Given the description of an element on the screen output the (x, y) to click on. 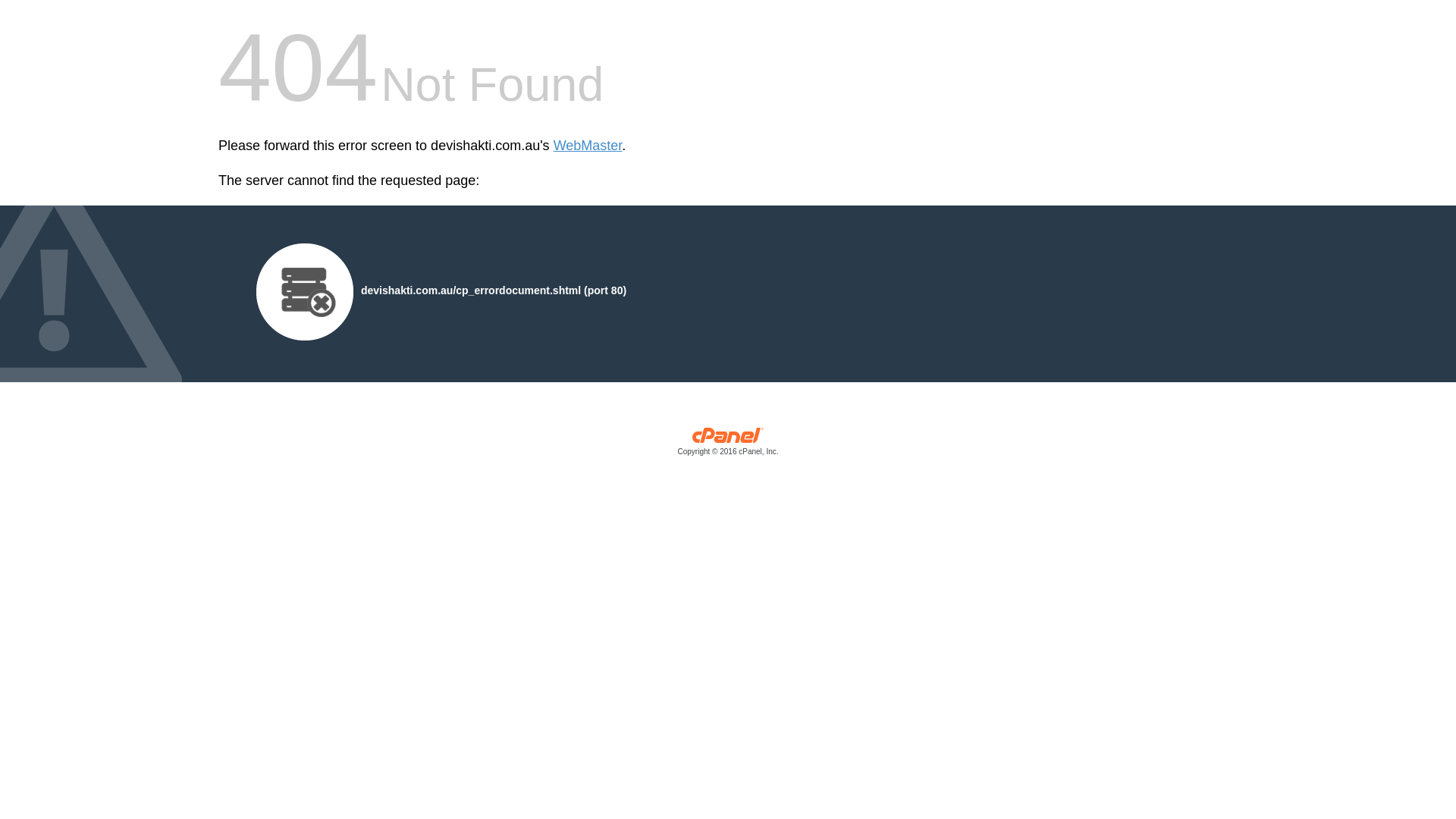
WebMaster Element type: text (587, 145)
